Given the description of an element on the screen output the (x, y) to click on. 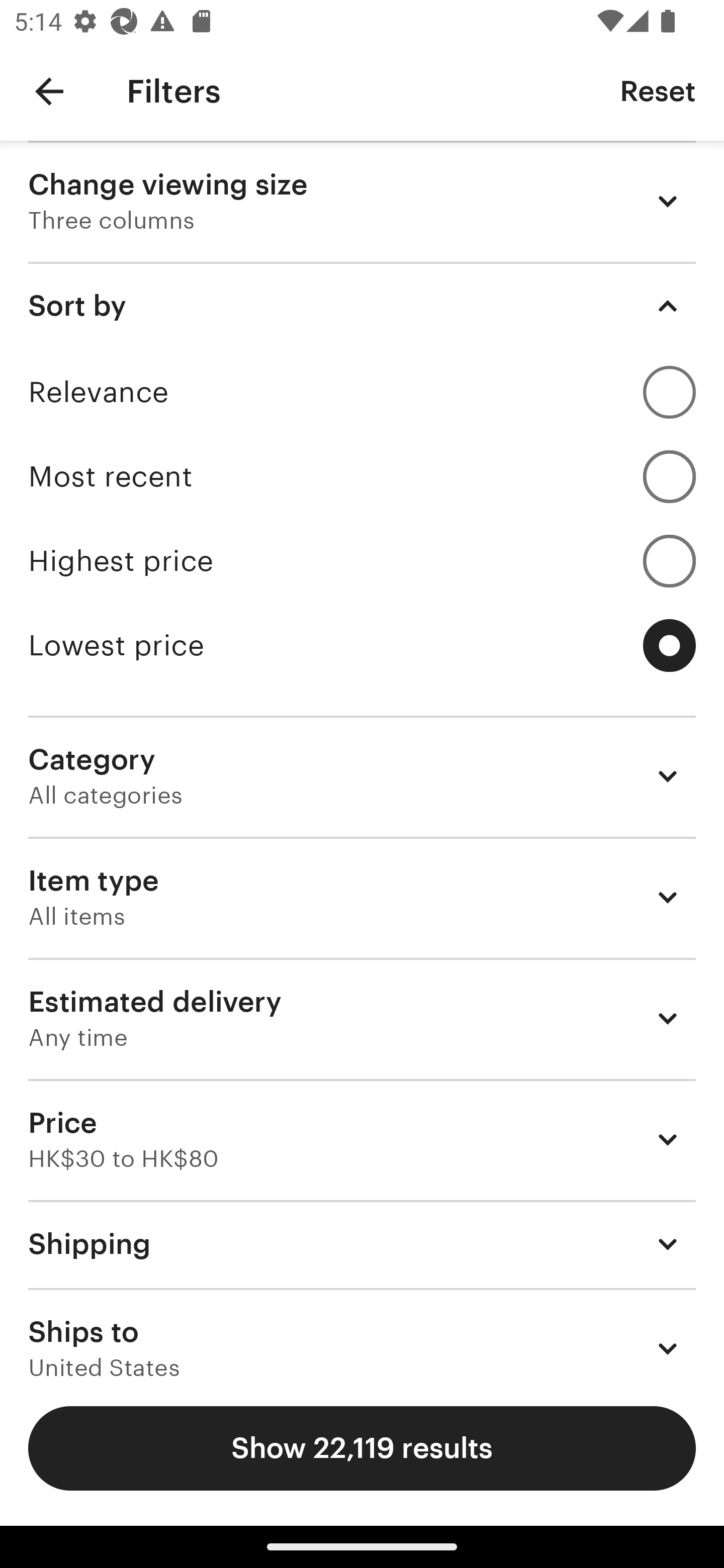
Navigate up (49, 91)
Reset (657, 90)
Change viewing size Three columns (362, 201)
Sort by (362, 305)
Relevance (362, 391)
Most recent (362, 476)
Highest price (362, 561)
Lowest price (362, 644)
Category All categories (362, 776)
Item type All items (362, 897)
Estimated delivery Any time (362, 1018)
Price HK$30 to HK$80 (362, 1138)
Shipping (362, 1243)
Ships to United States (362, 1332)
Show 22,119 results Show 22,118 results (361, 1448)
